Given the description of an element on the screen output the (x, y) to click on. 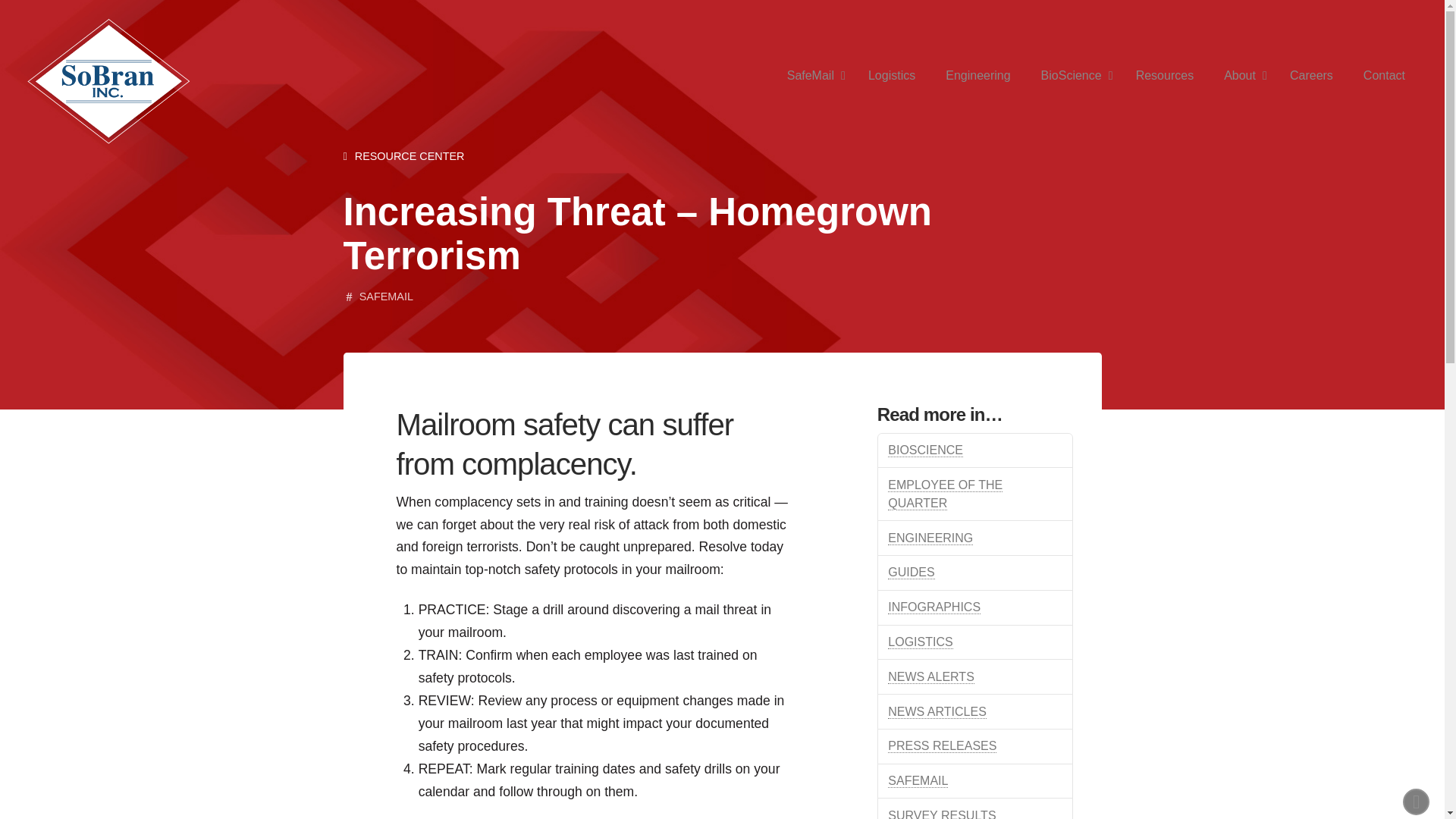
Back to Top (1416, 801)
Engineering (977, 75)
Resources (1164, 75)
Logistics (891, 75)
Contact (1384, 75)
Careers (1311, 75)
About (1241, 75)
BioScience (1073, 75)
SafeMail (812, 75)
